Given the description of an element on the screen output the (x, y) to click on. 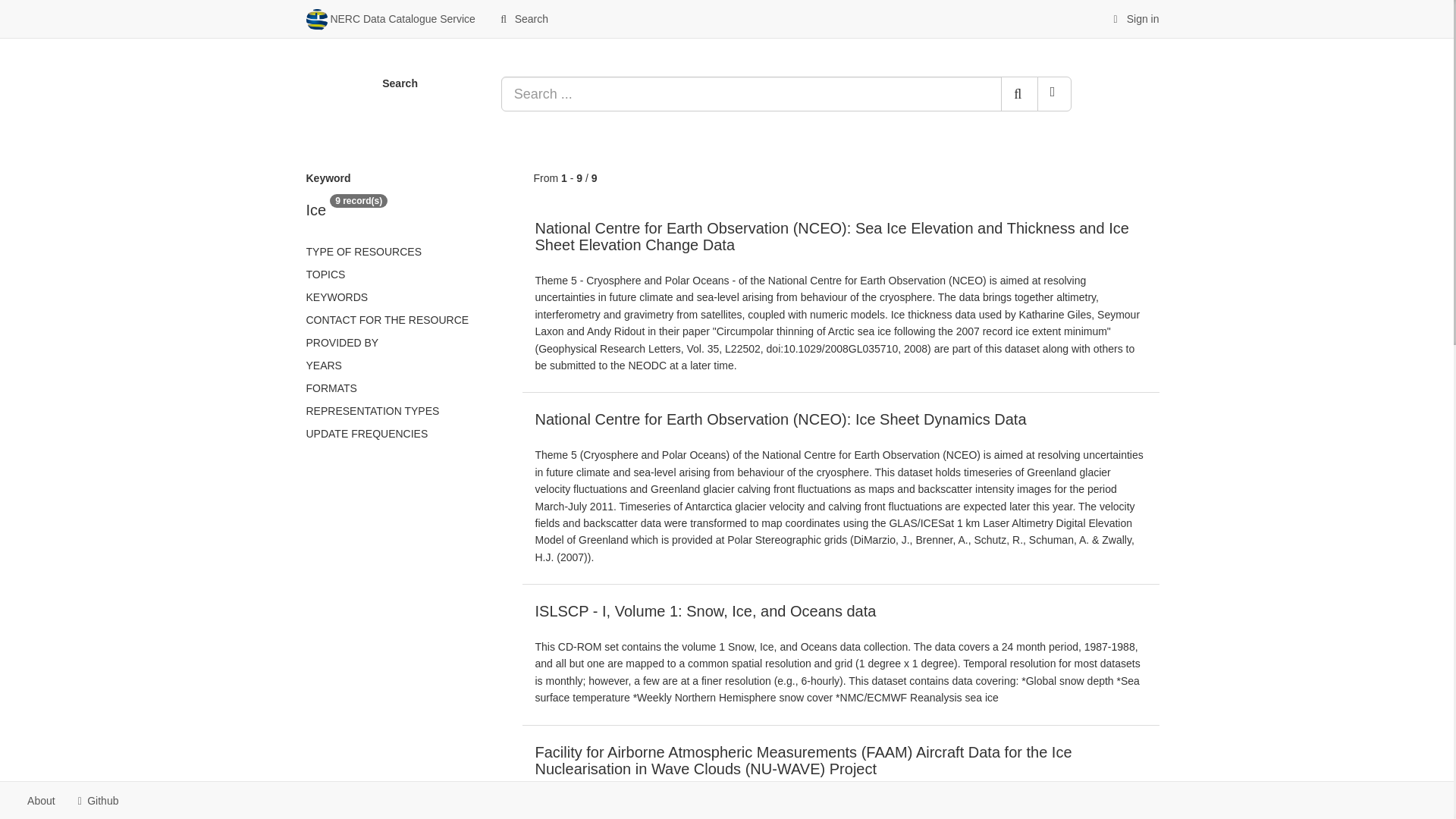
Sign in (1134, 18)
Search (522, 18)
  Search (522, 18)
NERC Data Catalogue Service (390, 18)
Reset (1053, 93)
Search (1019, 93)
  Sign in (1134, 18)
